Given the description of an element on the screen output the (x, y) to click on. 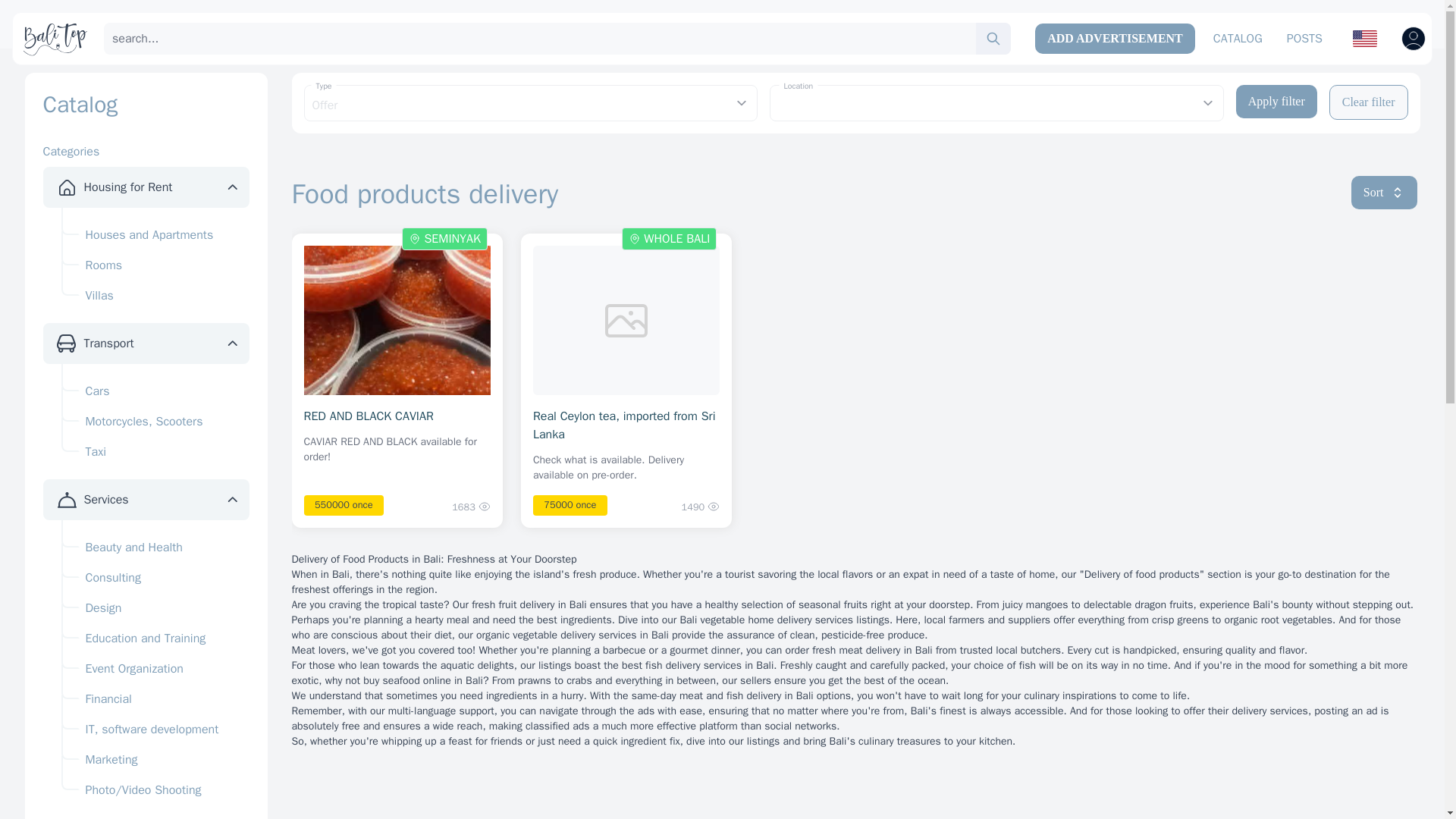
POSTS (1304, 38)
Beauty and Health (154, 547)
Design (154, 607)
ADD ADVERTISEMENT (1115, 38)
Consulting (154, 577)
Marketing (154, 759)
Open user menu (1412, 38)
Transport (107, 343)
Villas (154, 295)
Financial (154, 698)
